Given the description of an element on the screen output the (x, y) to click on. 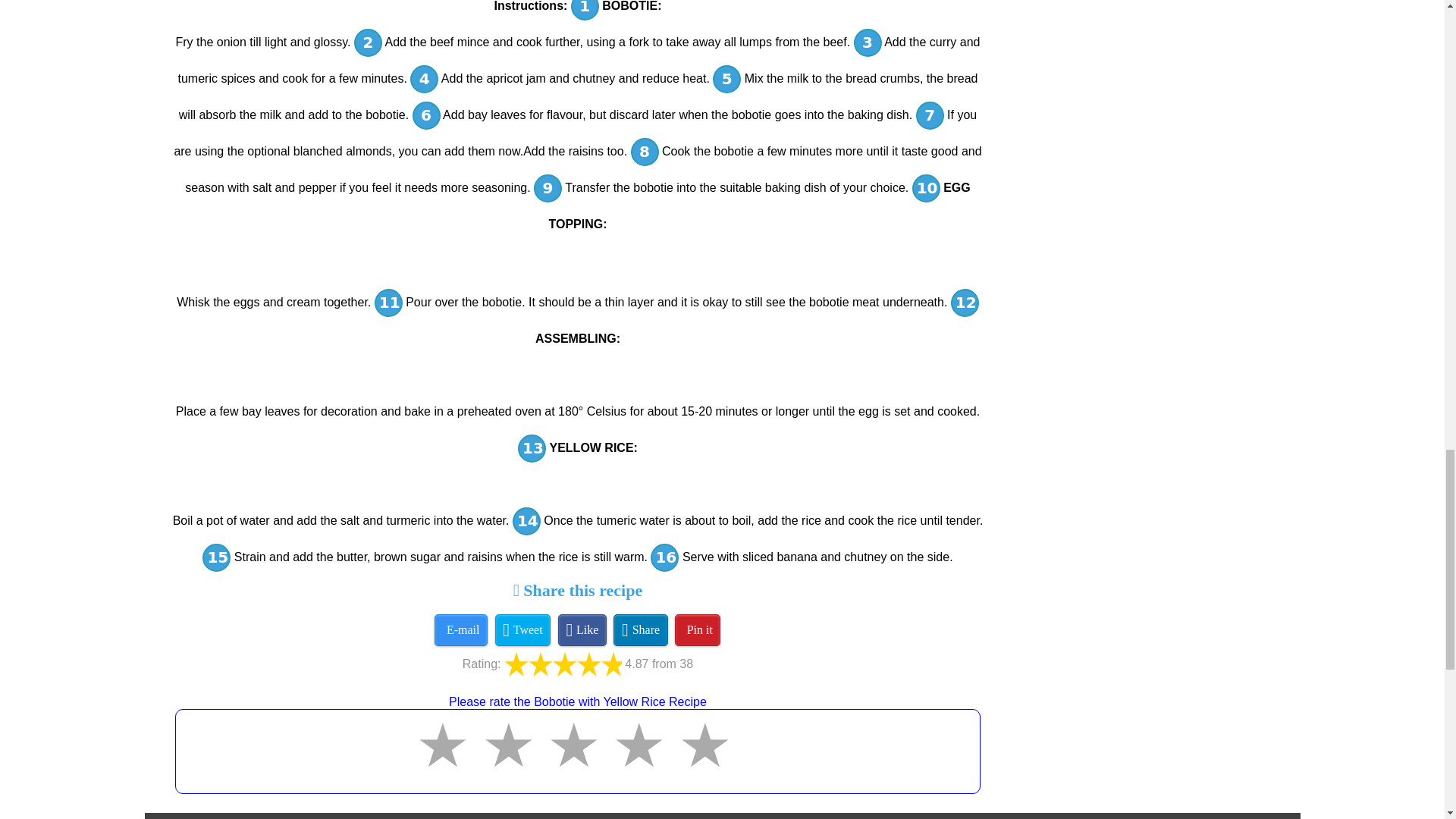
Very Good (579, 762)
Fair (447, 762)
Good (514, 762)
Brilliant (644, 762)
